Given the description of an element on the screen output the (x, y) to click on. 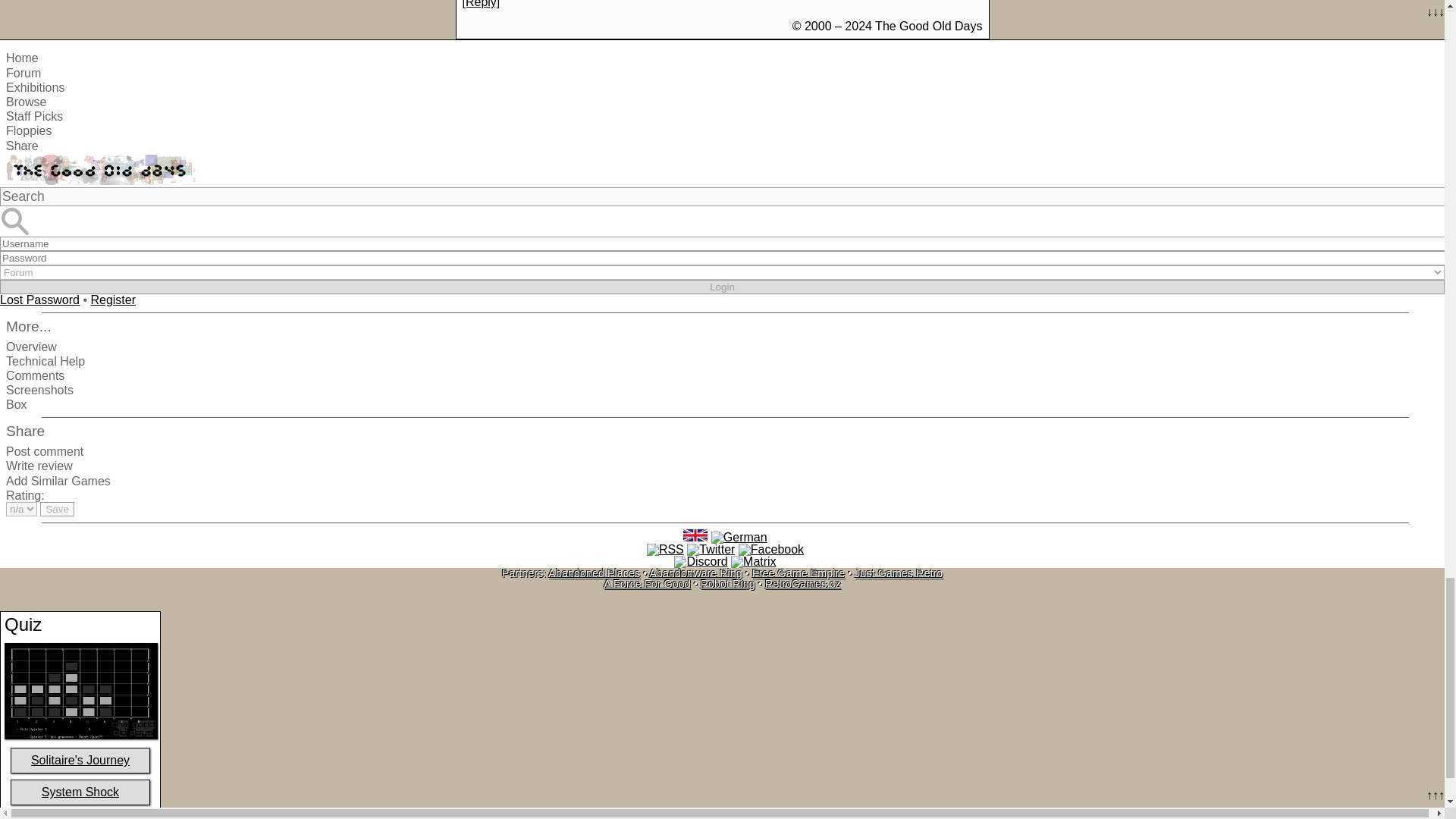
Exhibitions (34, 87)
Matrix (753, 562)
Staff Picks (33, 115)
Facebook (770, 549)
Floppies (27, 130)
Forum (22, 72)
Twitter (711, 549)
Share (22, 145)
Save (57, 509)
Lost Password (40, 299)
Browse (25, 101)
Home (22, 57)
Discord (700, 562)
RSS (665, 549)
